Given the description of an element on the screen output the (x, y) to click on. 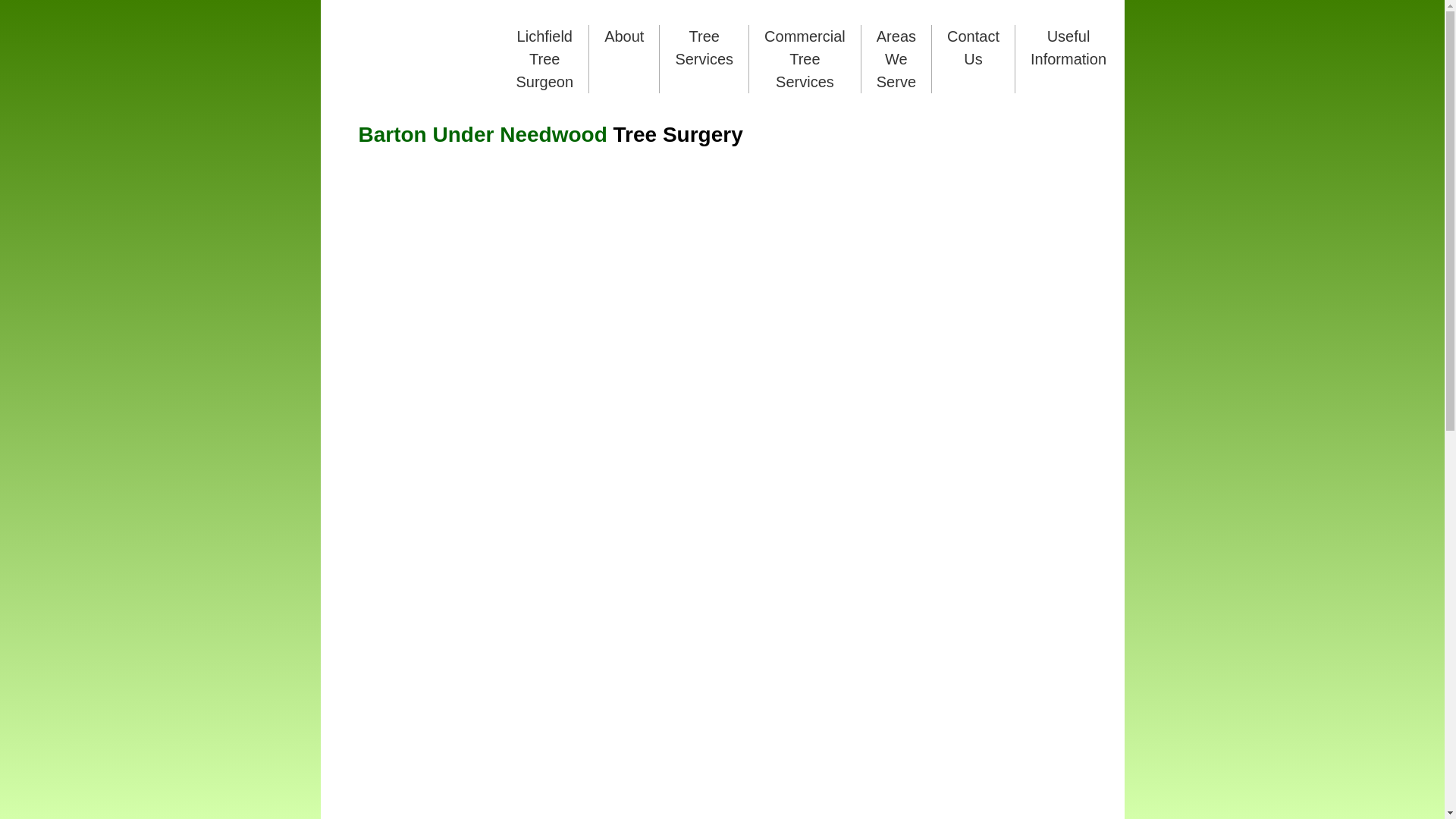
Areas We Serve Element type: text (896, 59)
Tree Services Element type: text (703, 47)
Commercial Tree Services Element type: text (804, 59)
Useful Information Element type: text (1068, 47)
Contact Us Element type: text (973, 47)
Lichfield Tree Surgeon Element type: text (544, 59)
About Element type: text (623, 36)
